Given the description of an element on the screen output the (x, y) to click on. 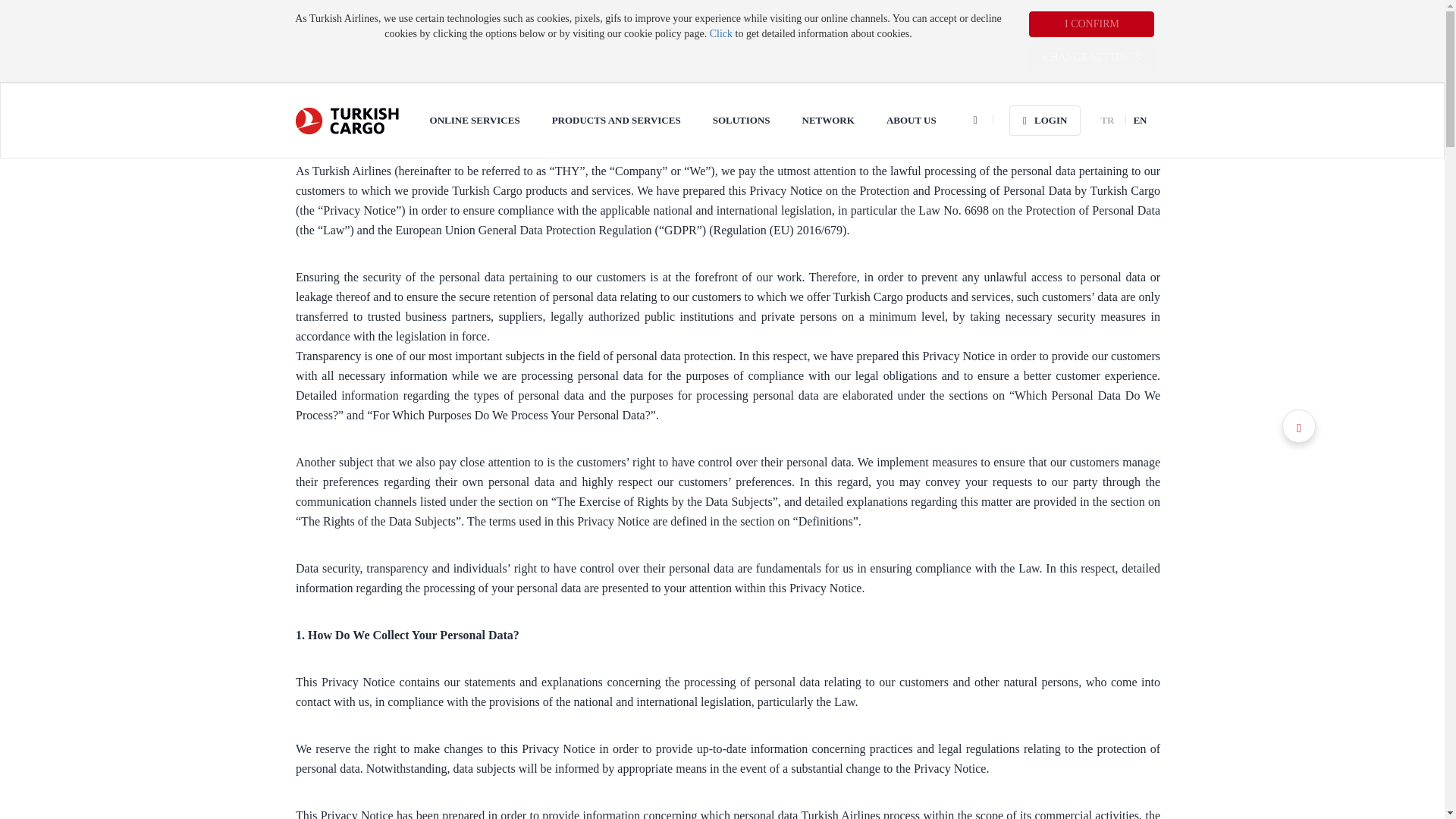
I CONFIRM (1091, 23)
CHANGE SETTINGS (1091, 57)
Click (721, 33)
